Given the description of an element on the screen output the (x, y) to click on. 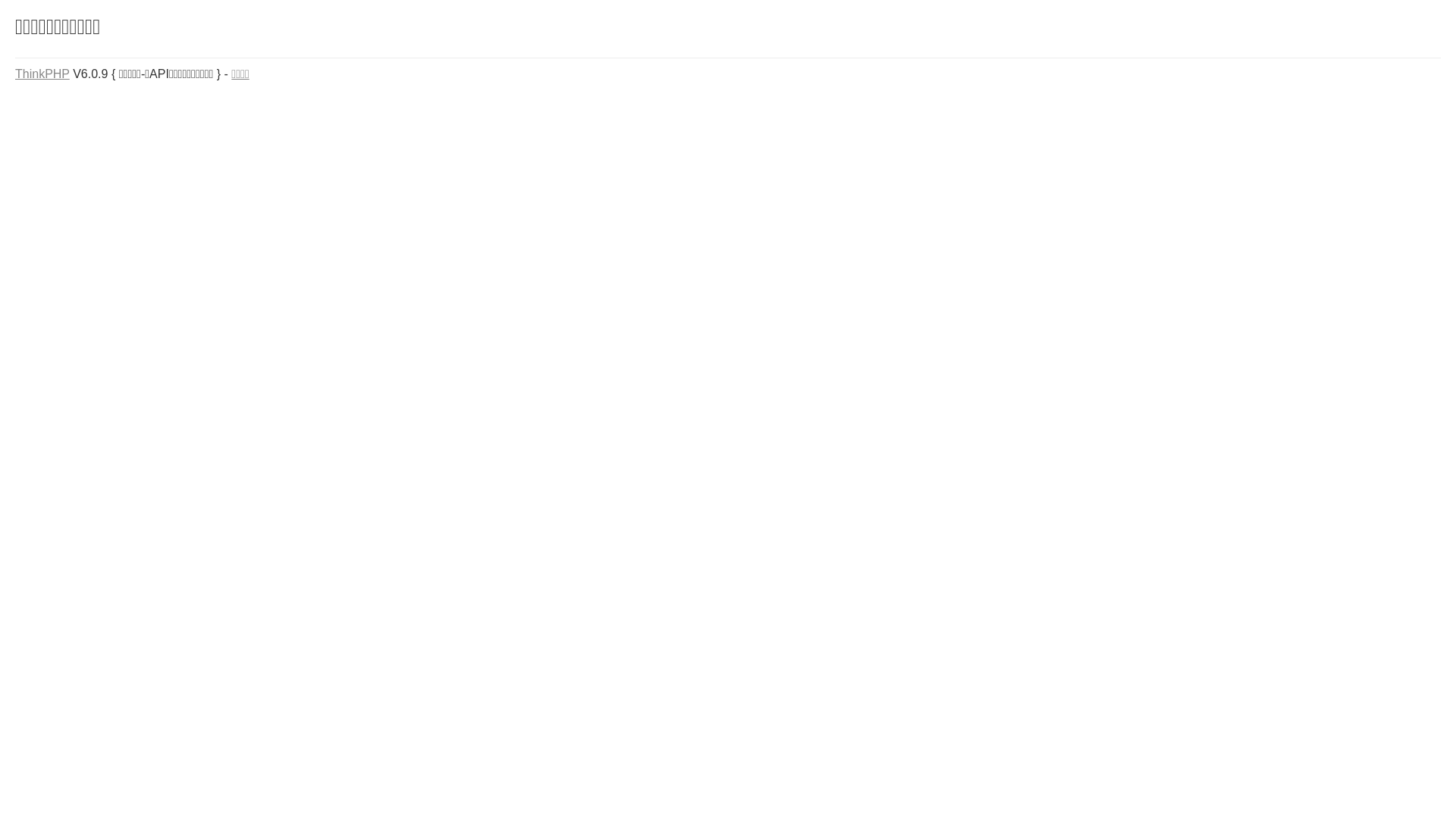
ThinkPHP Element type: text (42, 73)
